Given the description of an element on the screen output the (x, y) to click on. 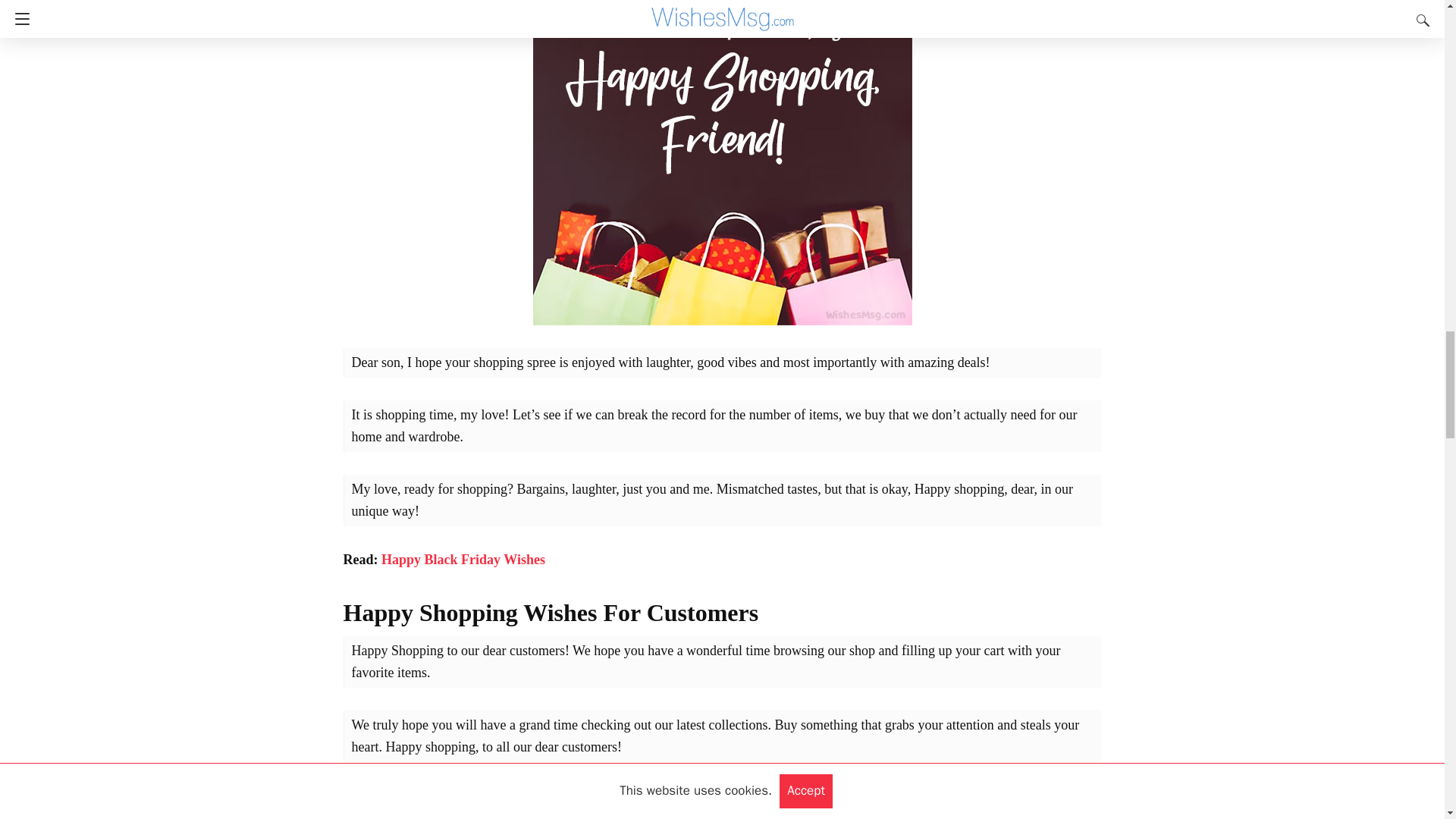
Happy Black Friday Wishes (462, 559)
